Given the description of an element on the screen output the (x, y) to click on. 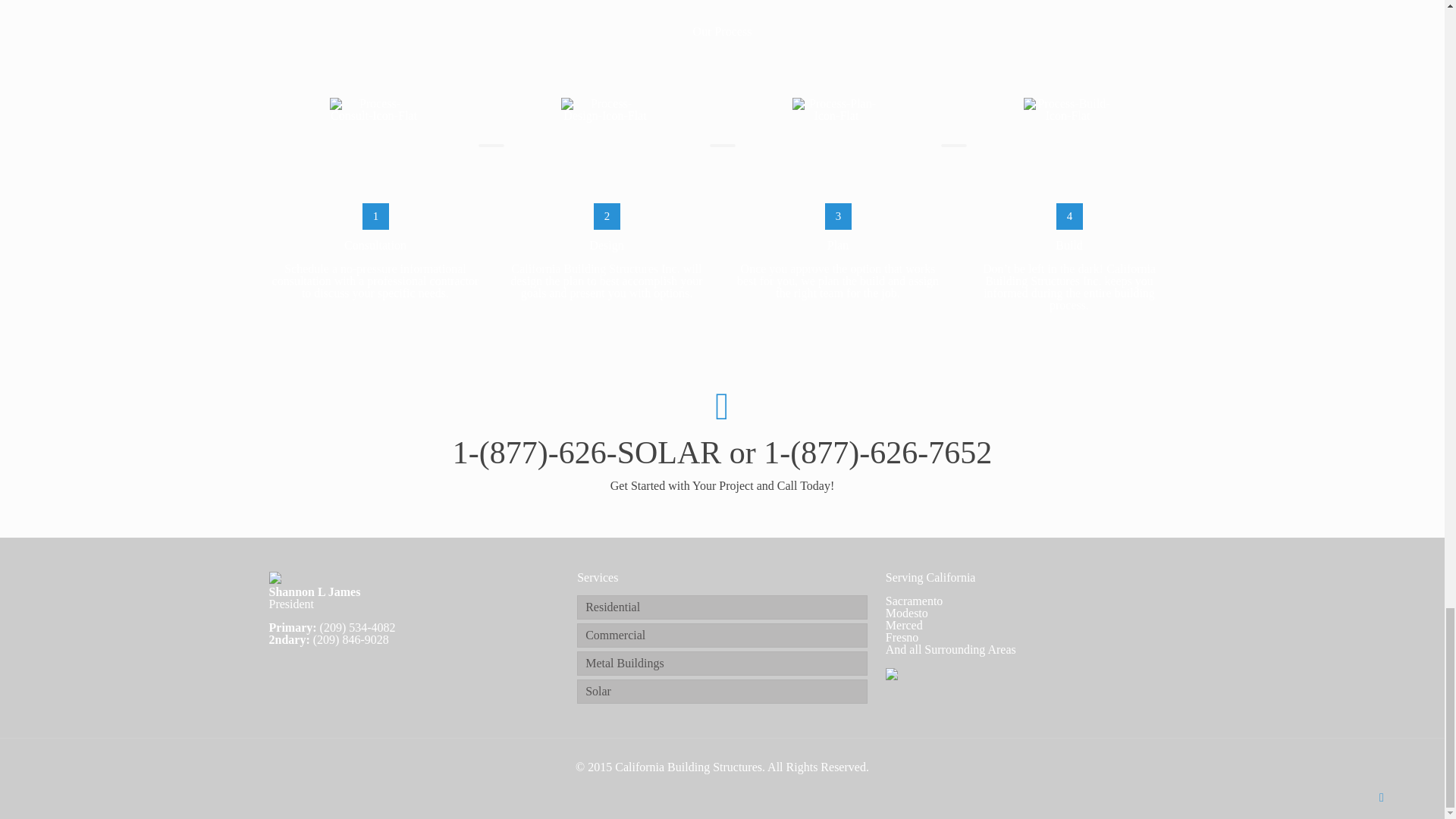
Commercial (721, 635)
Metal Buildings (721, 663)
Residential (721, 607)
Solar (721, 691)
